Given the description of an element on the screen output the (x, y) to click on. 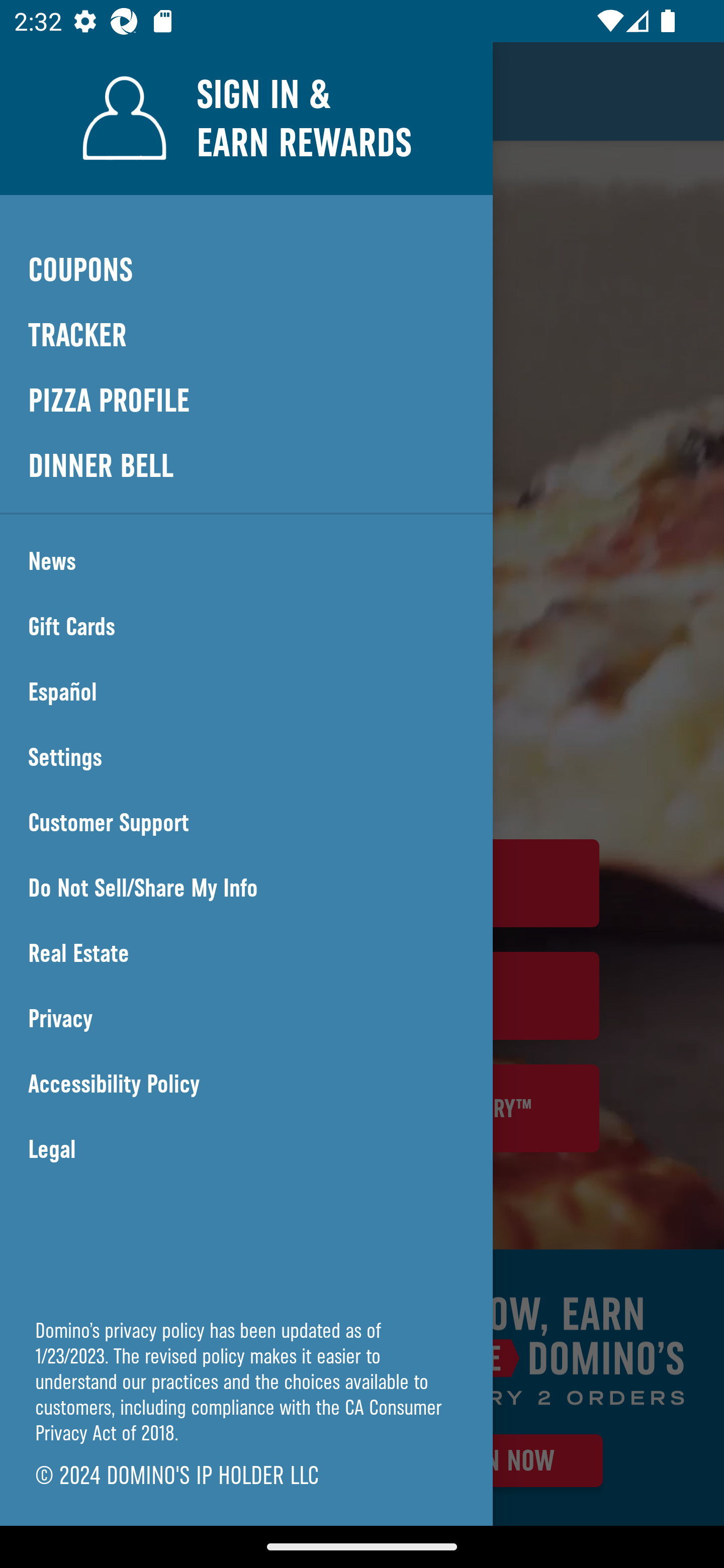
SIGN IN & EARN REWARDS (246, 118)
COUPONS (246, 269)
TRACKER (246, 335)
PIZZA PROFILE (246, 400)
DINNER BELL (246, 465)
News (246, 561)
Gift Cards (246, 627)
Español (246, 692)
Settings (246, 757)
Customer Support (246, 823)
Do Not Sell/Share My Info (246, 888)
Real Estate (246, 953)
Privacy (246, 1019)
Accessibility Policy (246, 1084)
Legal (246, 1149)
